Given the description of an element on the screen output the (x, y) to click on. 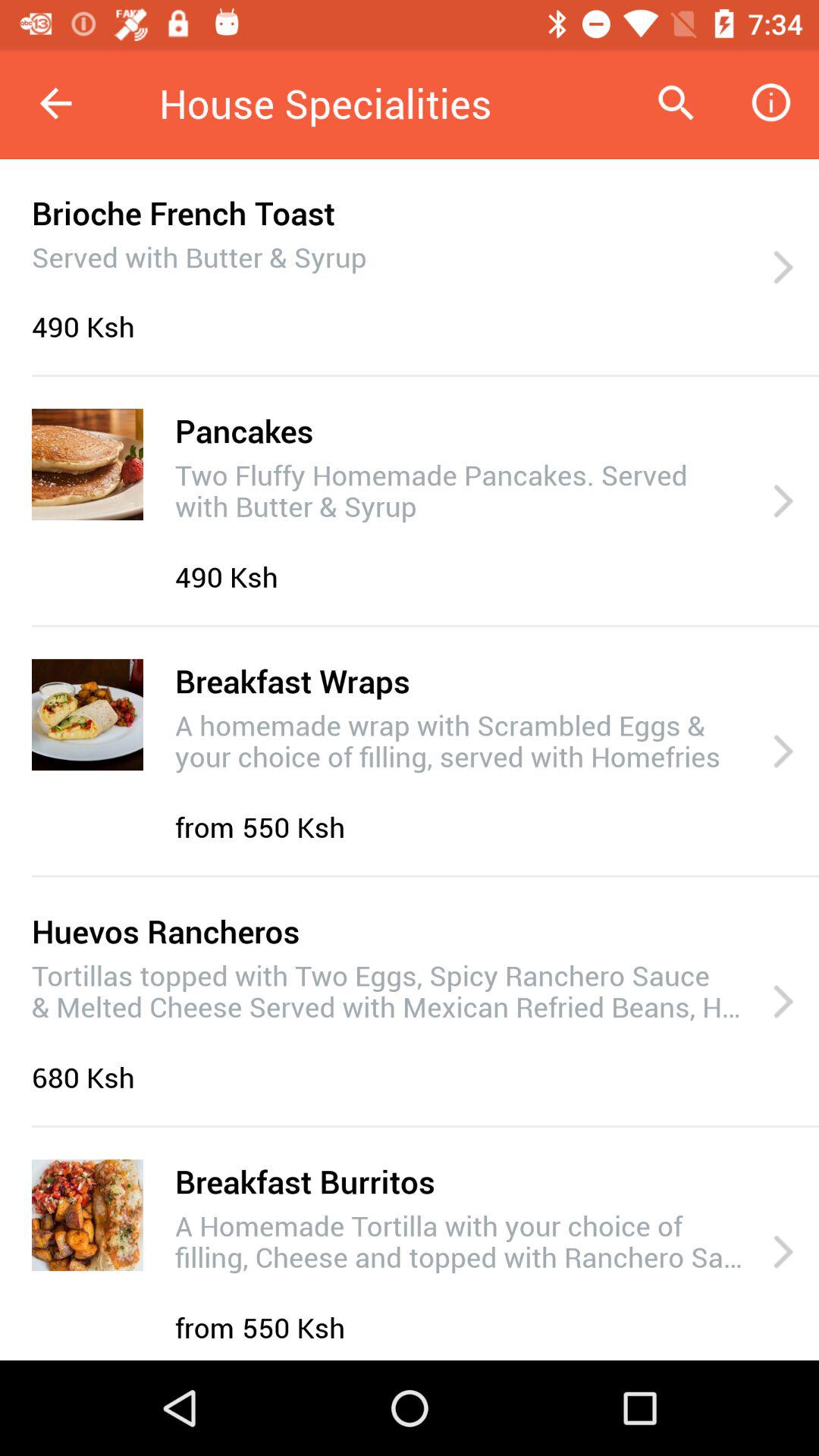
turn off item above served with butter item (182, 212)
